Given the description of an element on the screen output the (x, y) to click on. 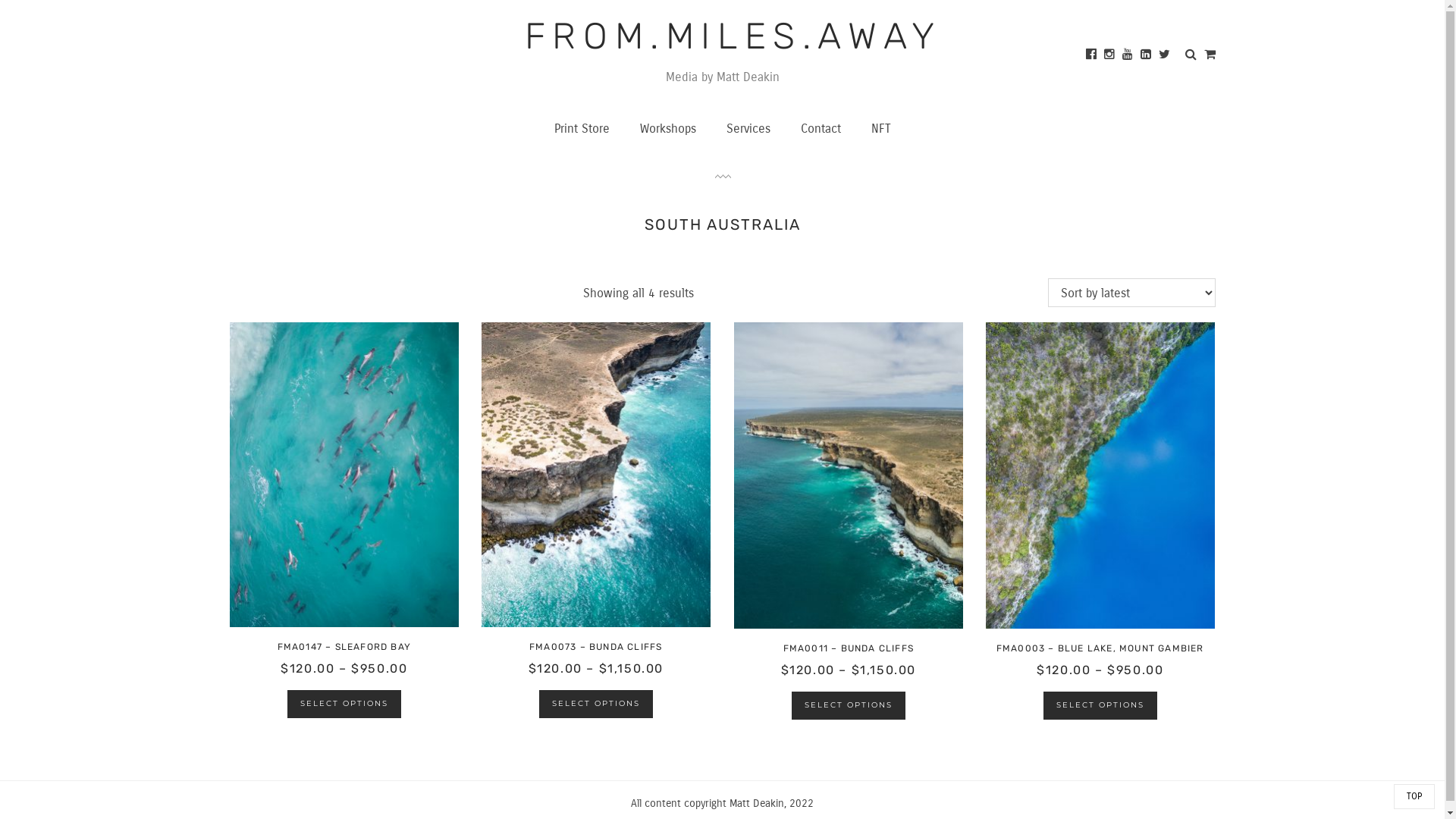
Facebook Element type: hover (1090, 52)
FMA0011 - POR Element type: hover (848, 475)
Print Store Element type: text (580, 128)
SELECT OPTIONS Element type: text (848, 705)
TOP Element type: text (1413, 796)
Twitter Element type: hover (1164, 52)
Contact Element type: text (820, 128)
Youtube Element type: hover (1127, 52)
Services Element type: text (748, 128)
Linked In Element type: hover (1145, 52)
NFT Element type: text (880, 128)
FROM.MILES.AWAY Element type: text (732, 35)
SELECT OPTIONS Element type: text (344, 704)
FMA0147 - Sleaford Bay POR Element type: hover (343, 474)
FMA0003 - POR Element type: hover (1100, 475)
Instagram Element type: hover (1109, 52)
FMA0073 - Bunda Cliffs, Great Asutralian Bight POR Element type: hover (595, 474)
Workshops Element type: text (668, 128)
SELECT OPTIONS Element type: text (595, 704)
SELECT OPTIONS Element type: text (1100, 705)
